Given the description of an element on the screen output the (x, y) to click on. 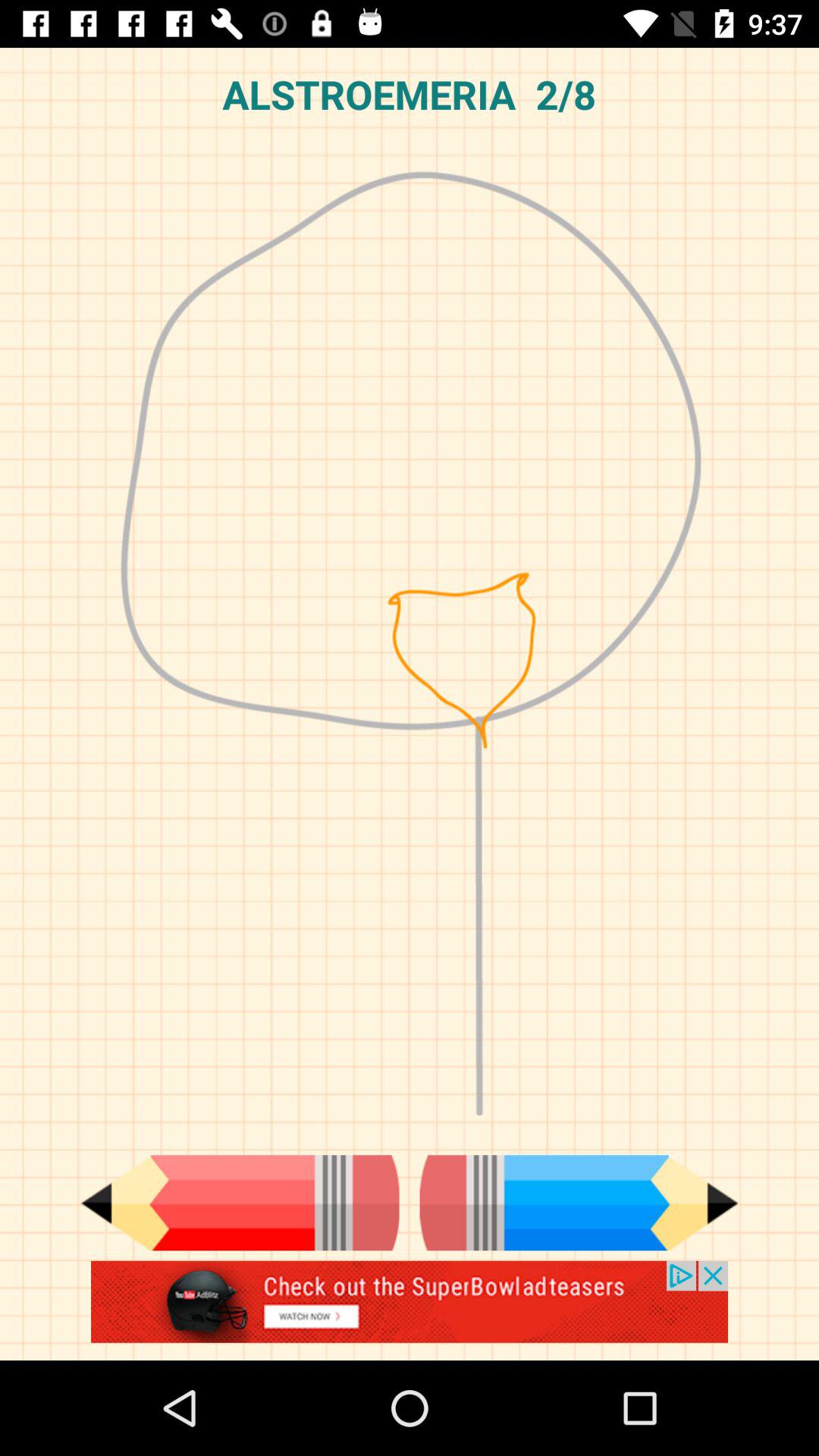
go to advertisement (409, 1310)
